Given the description of an element on the screen output the (x, y) to click on. 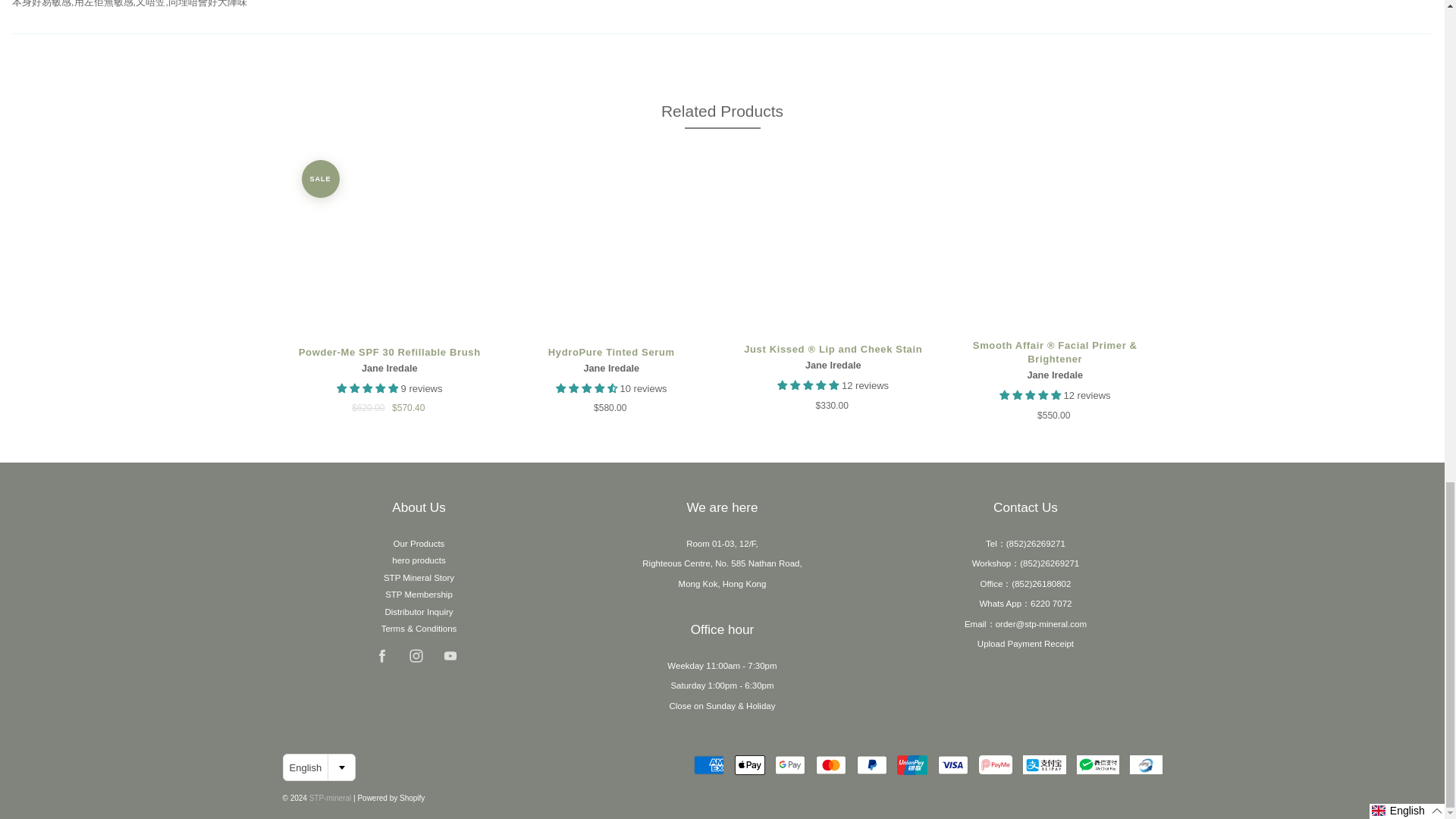
Facebook (381, 655)
Google Pay (789, 764)
Mastercard (830, 764)
Visa (952, 764)
PayPal (871, 764)
American Express (708, 764)
Apple Pay (750, 764)
Union Pay (911, 764)
YouTube (451, 655)
Instagram (416, 655)
